Given the description of an element on the screen output the (x, y) to click on. 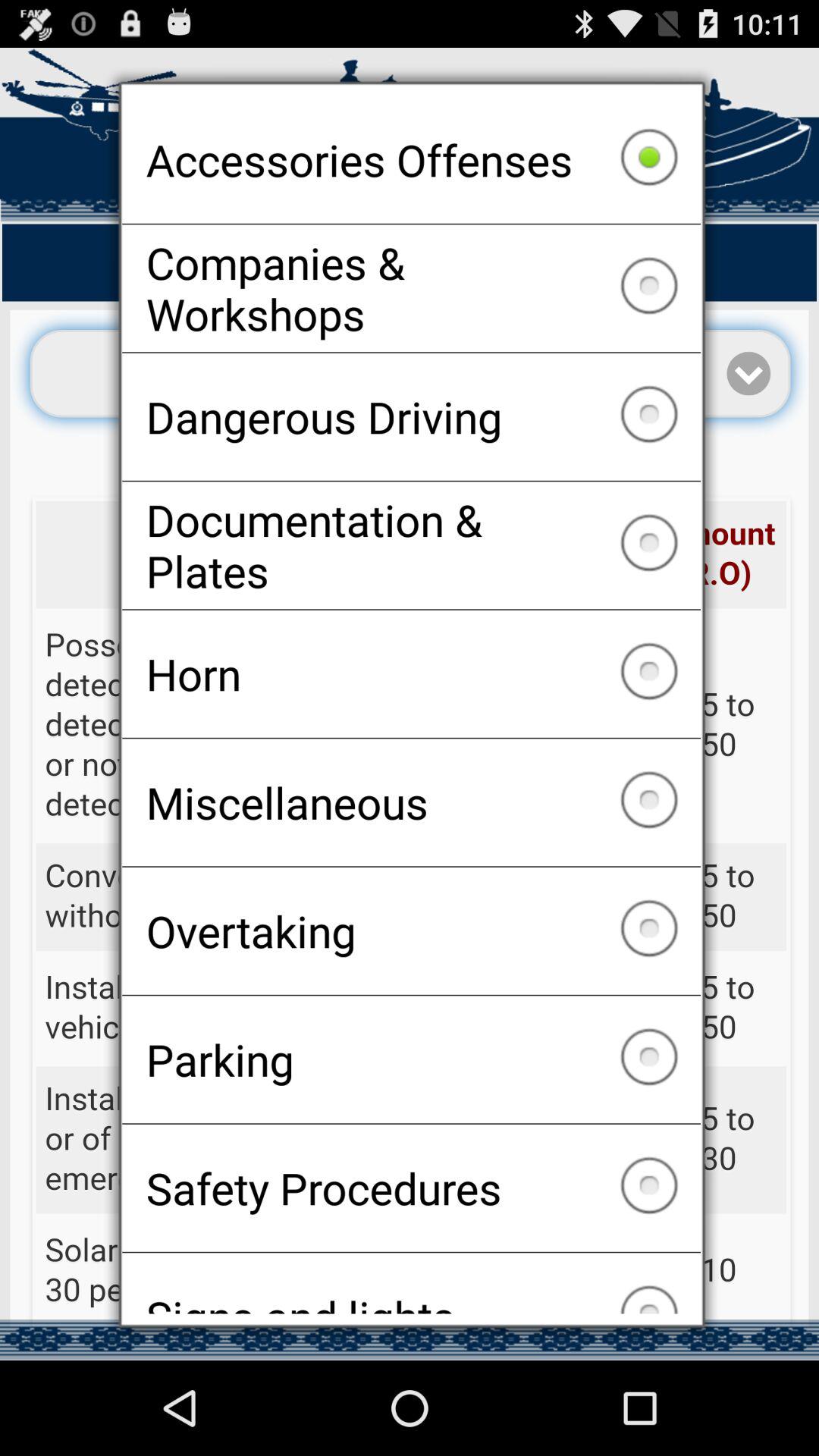
tap the parking icon (411, 1059)
